Given the description of an element on the screen output the (x, y) to click on. 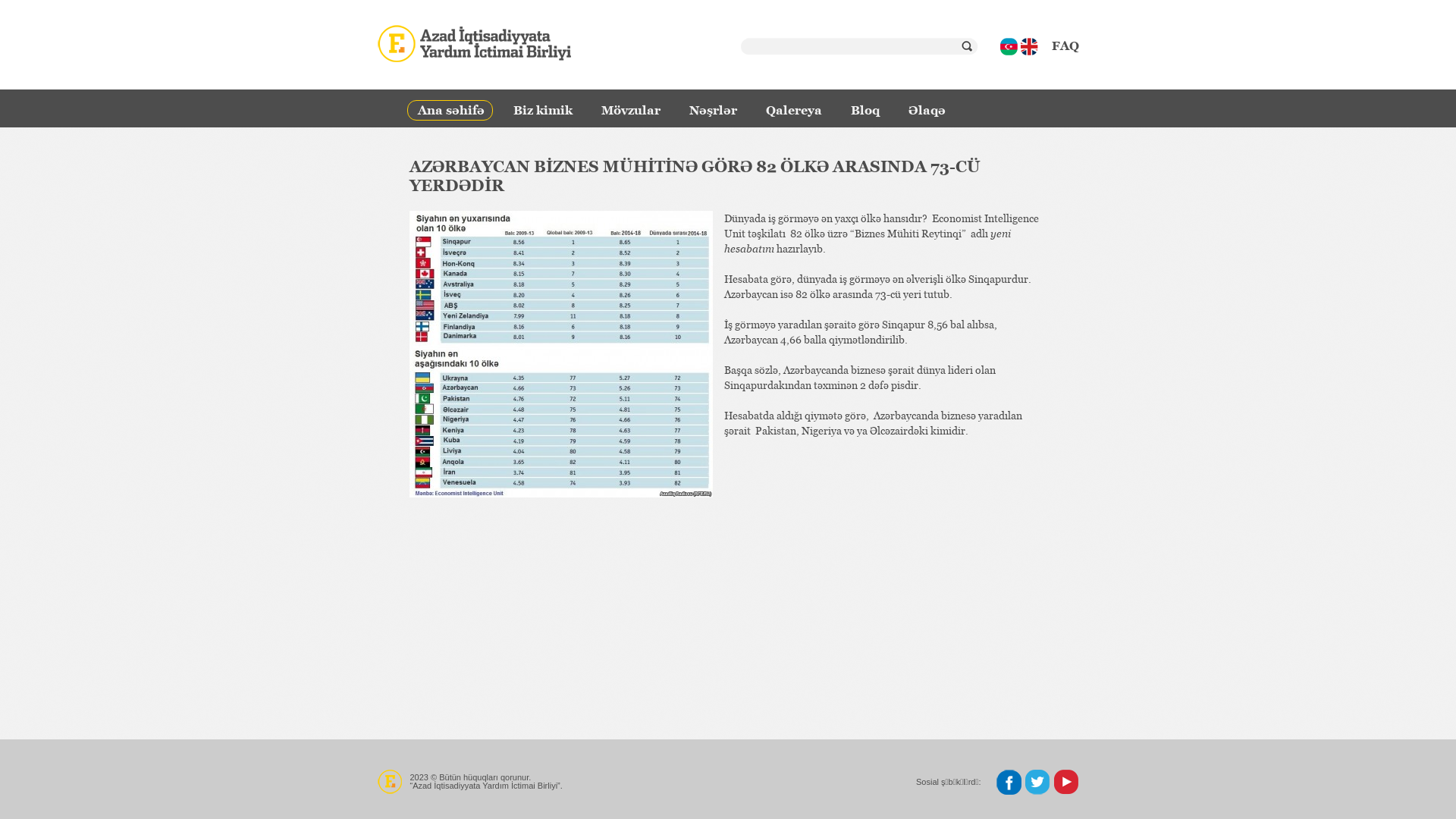
FAQ Element type: text (1064, 45)
Qalereya Element type: text (795, 113)
Youtube Element type: text (1066, 781)
EN Element type: text (1029, 46)
AZ Element type: text (1007, 46)
search Element type: text (966, 45)
Biz kimik Element type: text (545, 113)
Facebook Element type: text (1008, 781)
Twitter Element type: text (1037, 781)
Bloq Element type: text (867, 113)
